Given the description of an element on the screen output the (x, y) to click on. 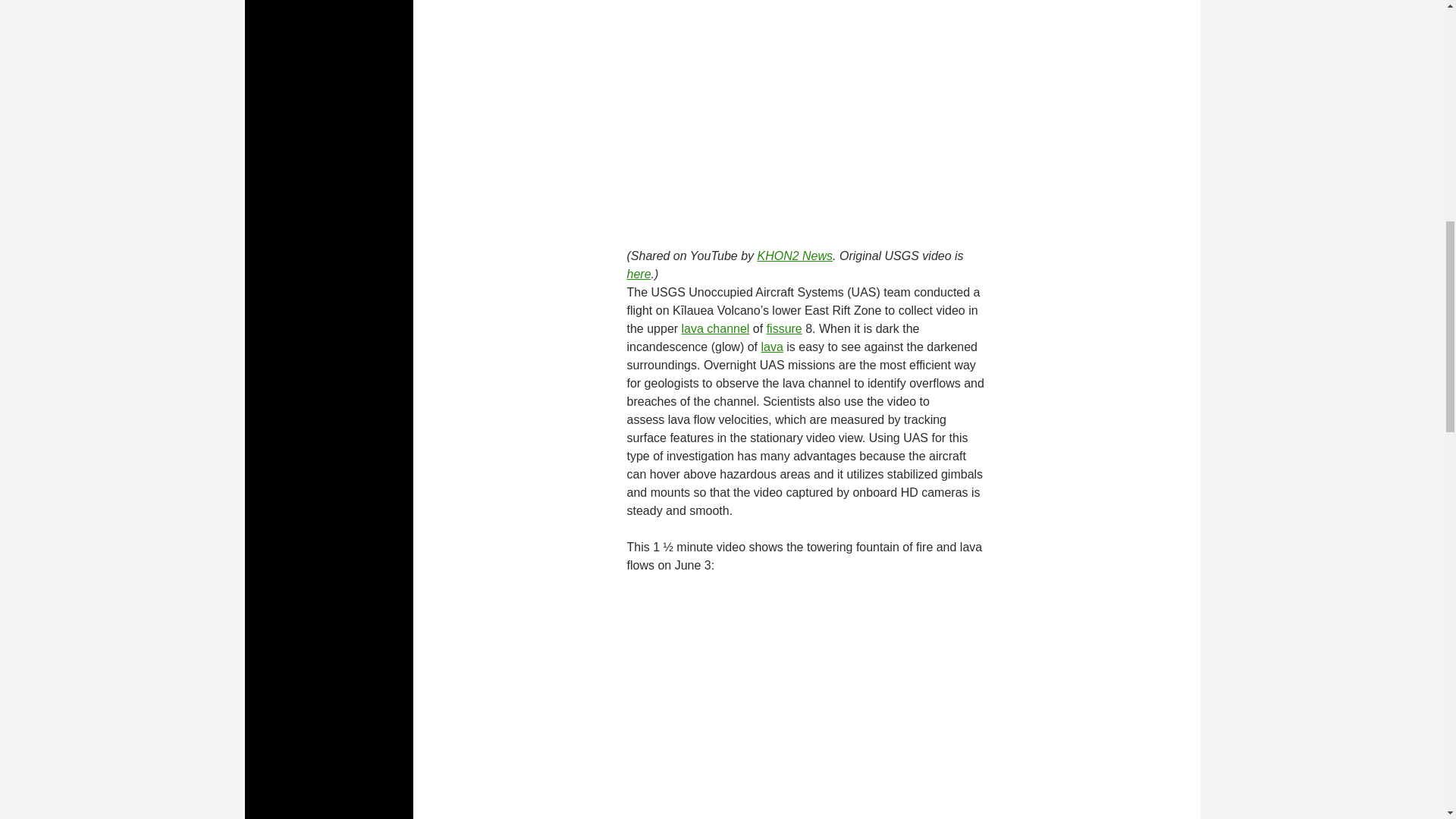
lava channel (715, 328)
lava (771, 346)
fissure (784, 328)
here (638, 273)
KHON2 News (794, 255)
